Given the description of an element on the screen output the (x, y) to click on. 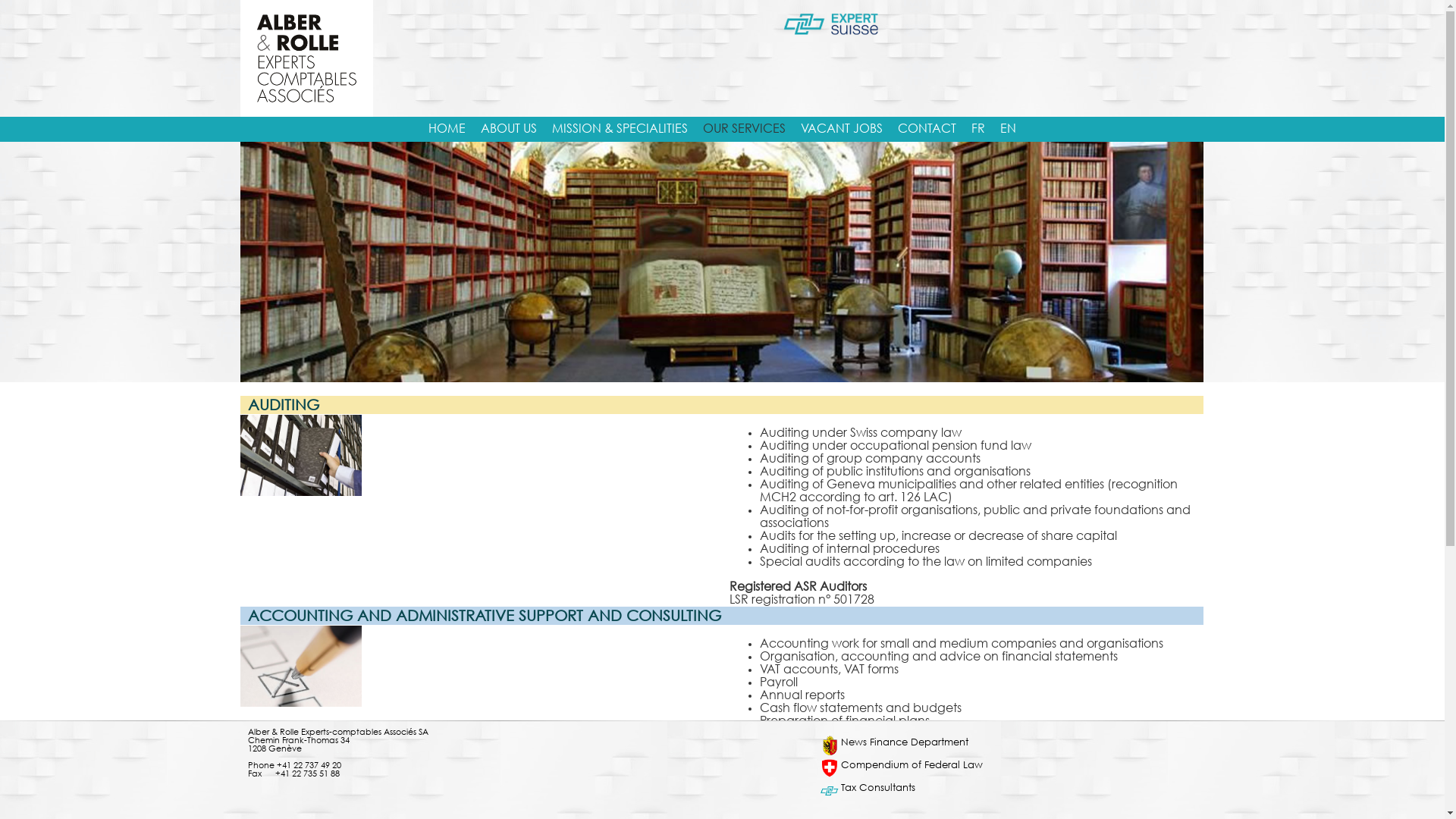
Compendium of Federal Law Element type: text (911, 765)
FR Element type: text (978, 128)
ABOUT US Element type: text (508, 128)
MISSION & SPECIALITIES Element type: text (619, 128)
HOME Element type: text (446, 128)
Tax Consultants Element type: text (877, 788)
VACANT JOBS Element type: text (841, 128)
News Finance Department Element type: text (904, 742)
CONTACT Element type: text (926, 128)
OUR SERVICES Element type: text (743, 128)
EN Element type: text (1008, 128)
